Given the description of an element on the screen output the (x, y) to click on. 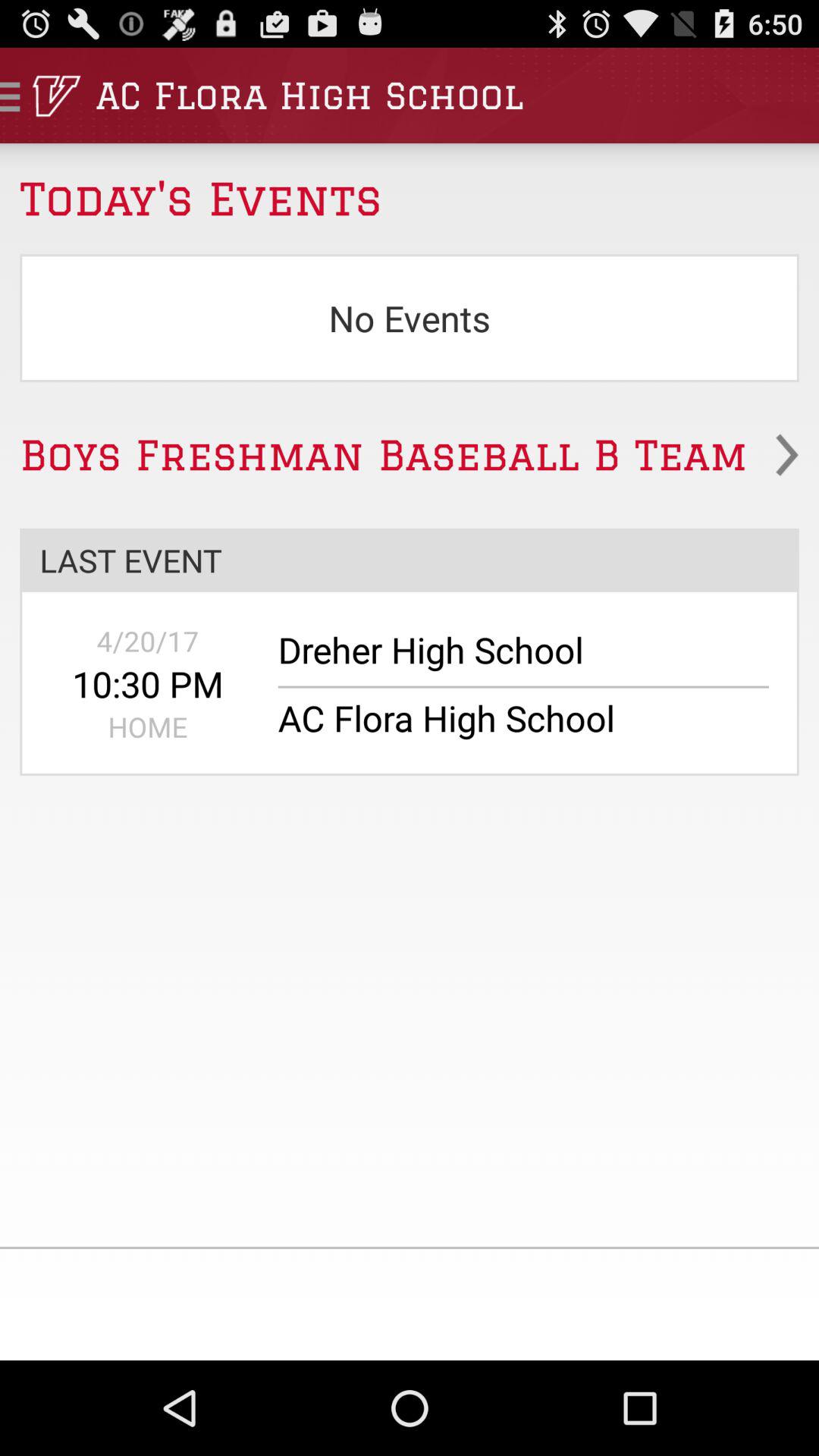
launch the icon above the boys freshman baseball app (409, 318)
